Given the description of an element on the screen output the (x, y) to click on. 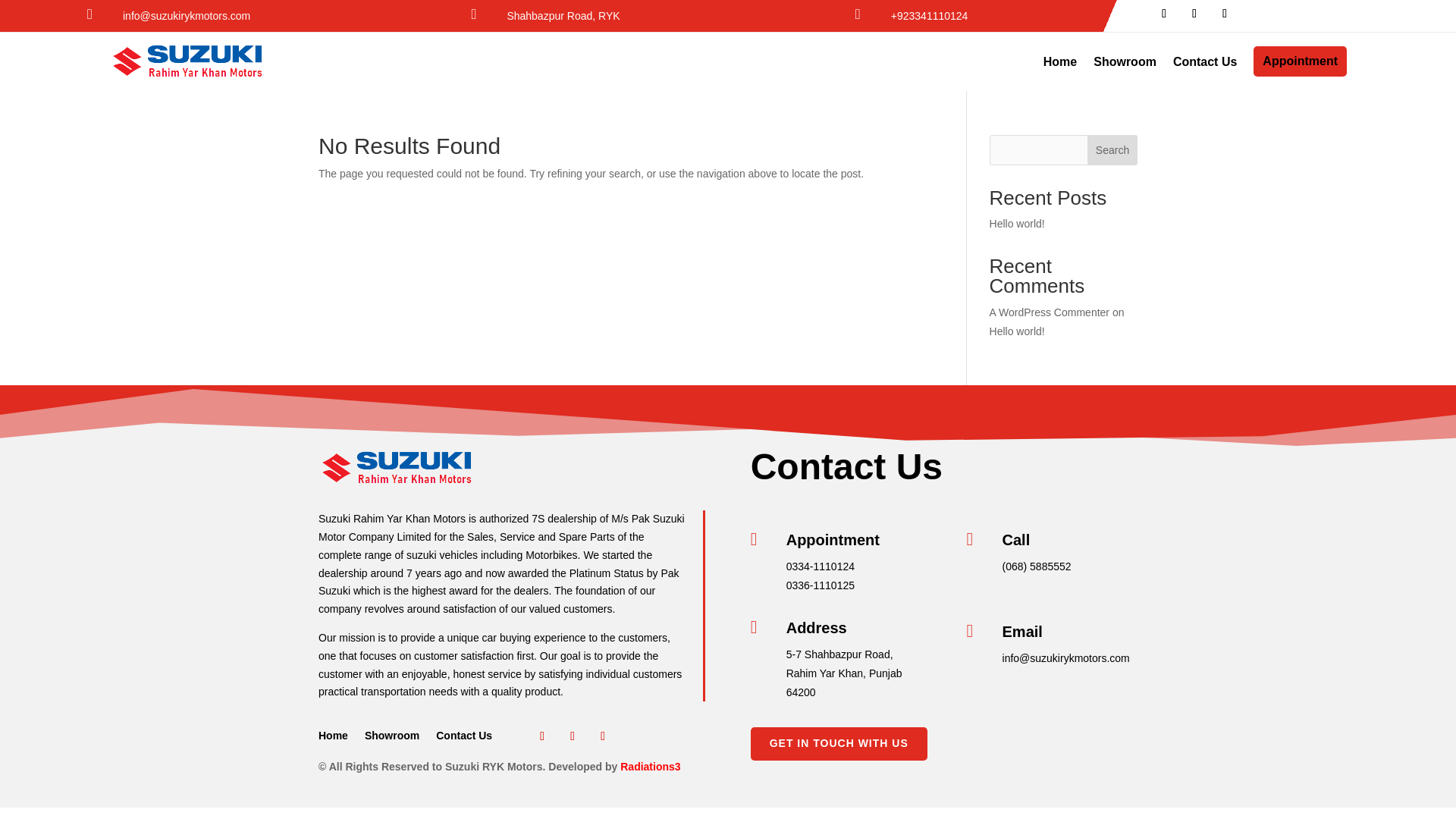
Showroom (392, 738)
GET IN TOUCH WITH US (839, 743)
Search (1112, 150)
Contact Us (463, 738)
Follow on Instagram (1224, 13)
Appointment (1299, 60)
Contact Us (1204, 61)
Follow on Facebook (1163, 13)
Home (332, 738)
Follow on X (1194, 13)
